Given the description of an element on the screen output the (x, y) to click on. 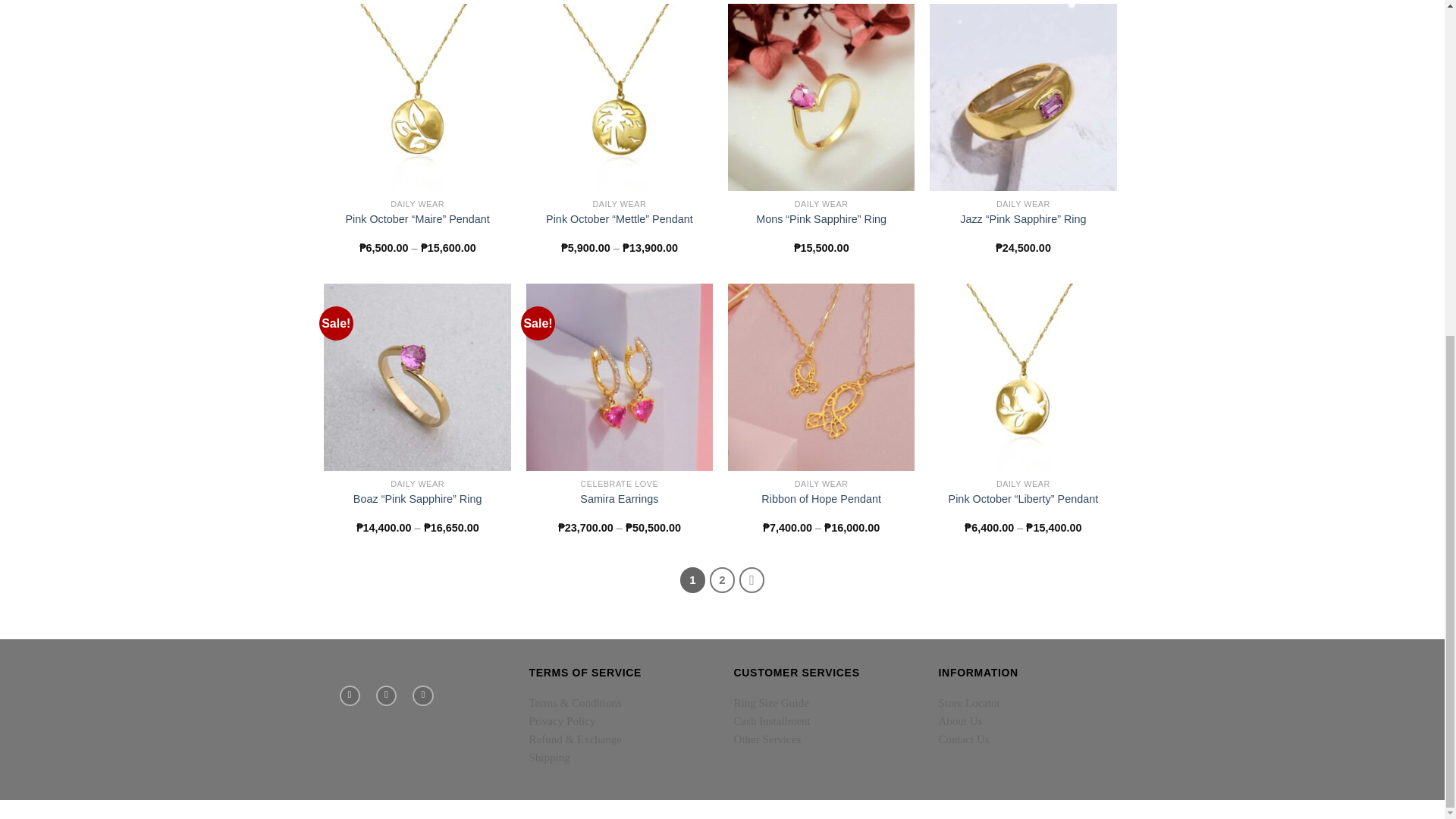
Follow on Instagram (385, 695)
Follow on Facebook (349, 695)
Follow on VKontakte (422, 695)
